Given the description of an element on the screen output the (x, y) to click on. 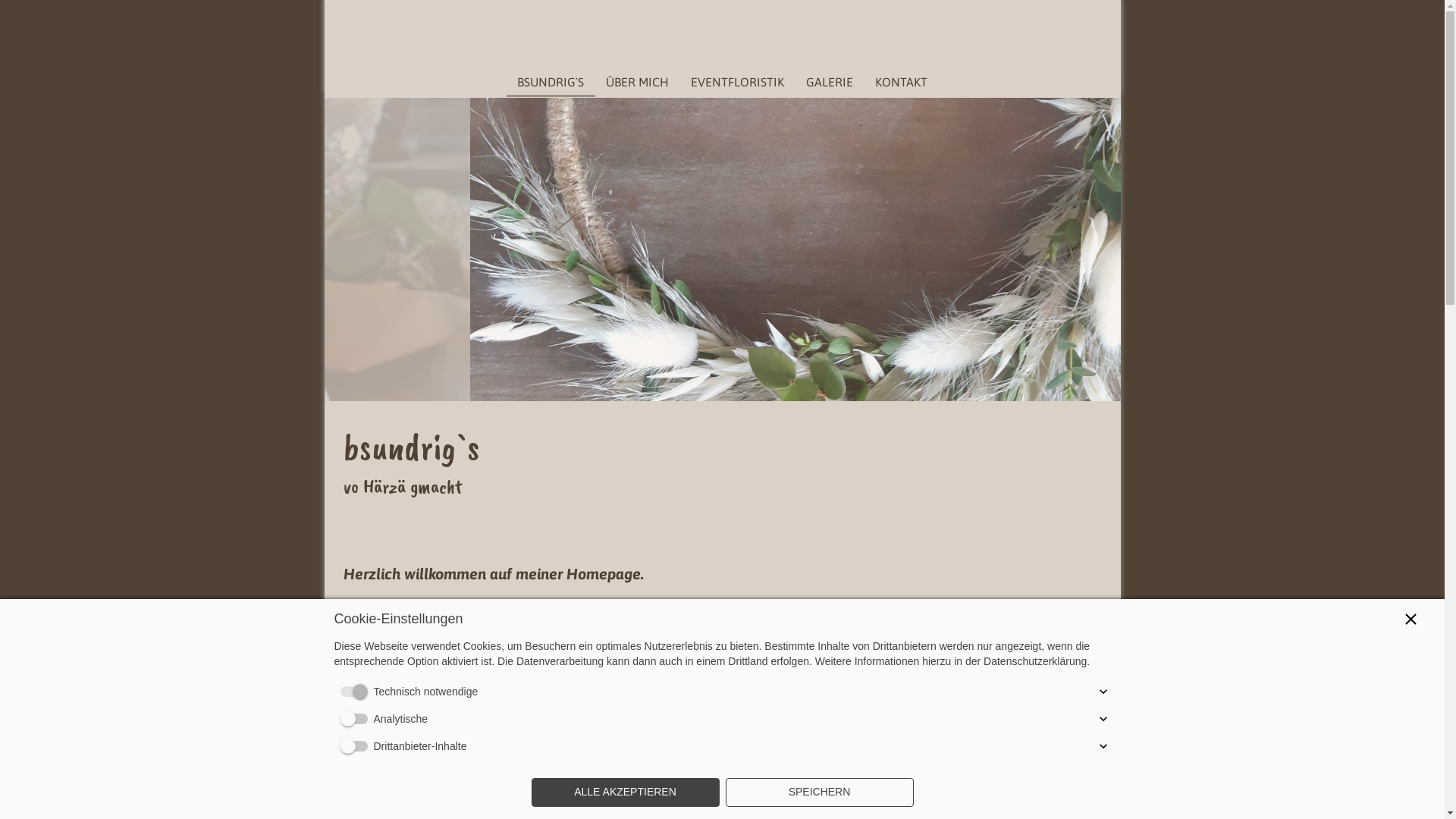
ALLE AKZEPTIEREN Element type: text (624, 792)
BSUNDRIG`S Element type: text (550, 81)
GALERIE Element type: text (828, 81)
SPEICHERN Element type: text (818, 792)
KONTAKT Element type: text (900, 81)
EVENTFLORISTIK Element type: text (737, 81)
